Given the description of an element on the screen output the (x, y) to click on. 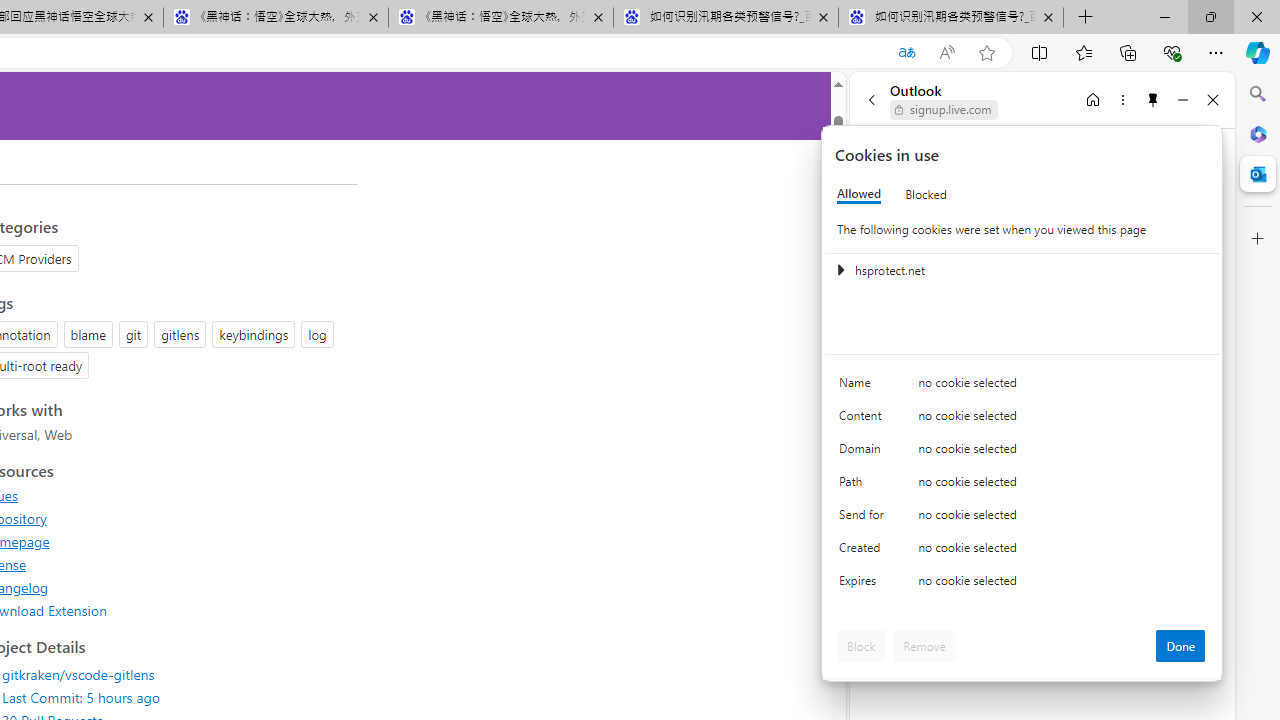
no cookie selected (1062, 585)
Domain (864, 452)
Blocked (925, 193)
Send for (864, 518)
Class: c0153 c0157 (1023, 584)
Allowed (859, 193)
Content (864, 420)
Done (1179, 645)
Class: c0153 c0157 c0154 (1023, 386)
Remove (924, 645)
Block (861, 645)
Created (864, 552)
Path (864, 485)
Expires (864, 585)
Name (864, 387)
